Given the description of an element on the screen output the (x, y) to click on. 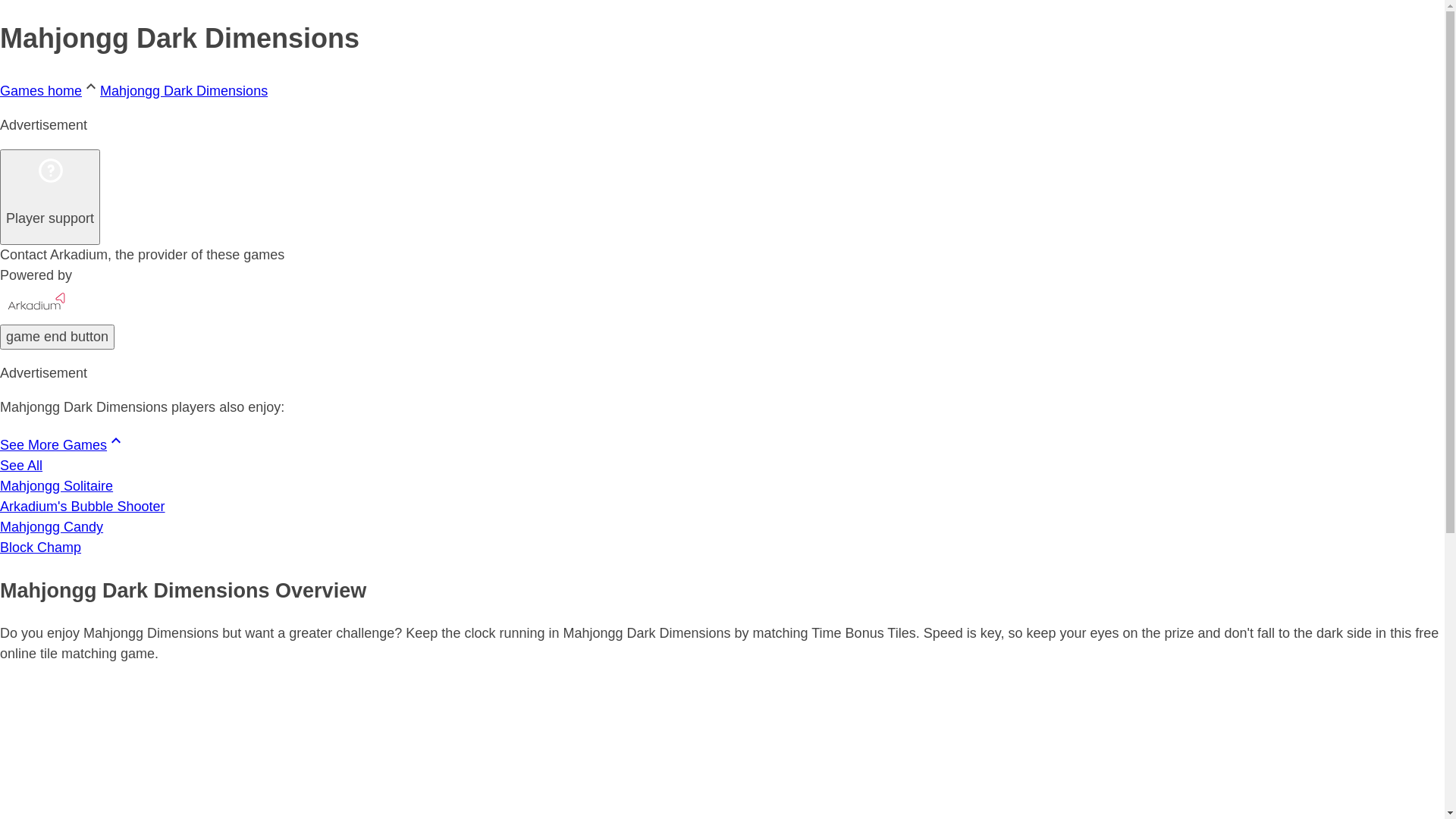
Mahjongg Solitaire Element type: text (722, 486)
See More Games
See All Element type: text (722, 453)
game end button Element type: text (57, 336)
Arkadium's Bubble Shooter Element type: text (722, 506)
Block Champ Element type: text (722, 547)
Mahjongg Dark Dimensions Element type: text (183, 90)
Games home Element type: text (40, 90)
Mahjongg Candy Element type: text (722, 527)
Player support Element type: text (50, 196)
